Given the description of an element on the screen output the (x, y) to click on. 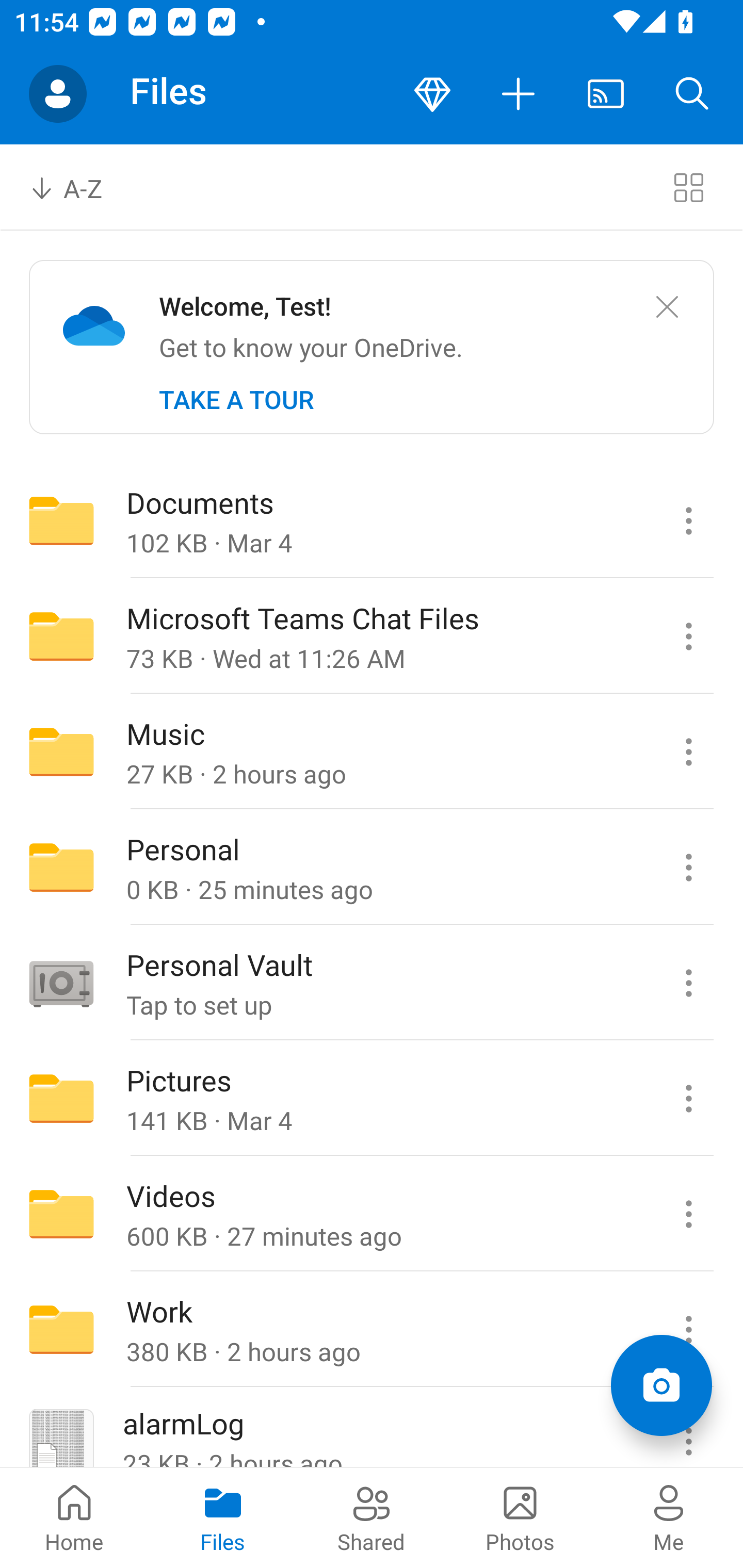
Account switcher (57, 93)
Cast. Disconnected (605, 93)
Premium button (432, 93)
More actions button (518, 93)
Search button (692, 93)
A-Z Sort by combo box, sort by name, A to Z (80, 187)
Switch to tiles view (688, 187)
Close (667, 307)
TAKE A TOUR (236, 399)
Folder Documents 102 KB · Mar 4 Documents commands (371, 520)
Documents commands (688, 520)
Microsoft Teams Chat Files commands (688, 636)
Folder Music 27 KB · 2 hours ago Music commands (371, 751)
Music commands (688, 751)
Personal commands (688, 867)
Personal Vault commands (688, 983)
Folder Pictures 141 KB · Mar 4 Pictures commands (371, 1099)
Pictures commands (688, 1099)
Videos commands (688, 1214)
Folder Work 380 KB · 2 hours ago Work commands (371, 1329)
Work commands (688, 1329)
Add items Scan (660, 1385)
alarmLog commands (688, 1427)
Home pivot Home (74, 1517)
Shared pivot Shared (371, 1517)
Photos pivot Photos (519, 1517)
Me pivot Me (668, 1517)
